Given the description of an element on the screen output the (x, y) to click on. 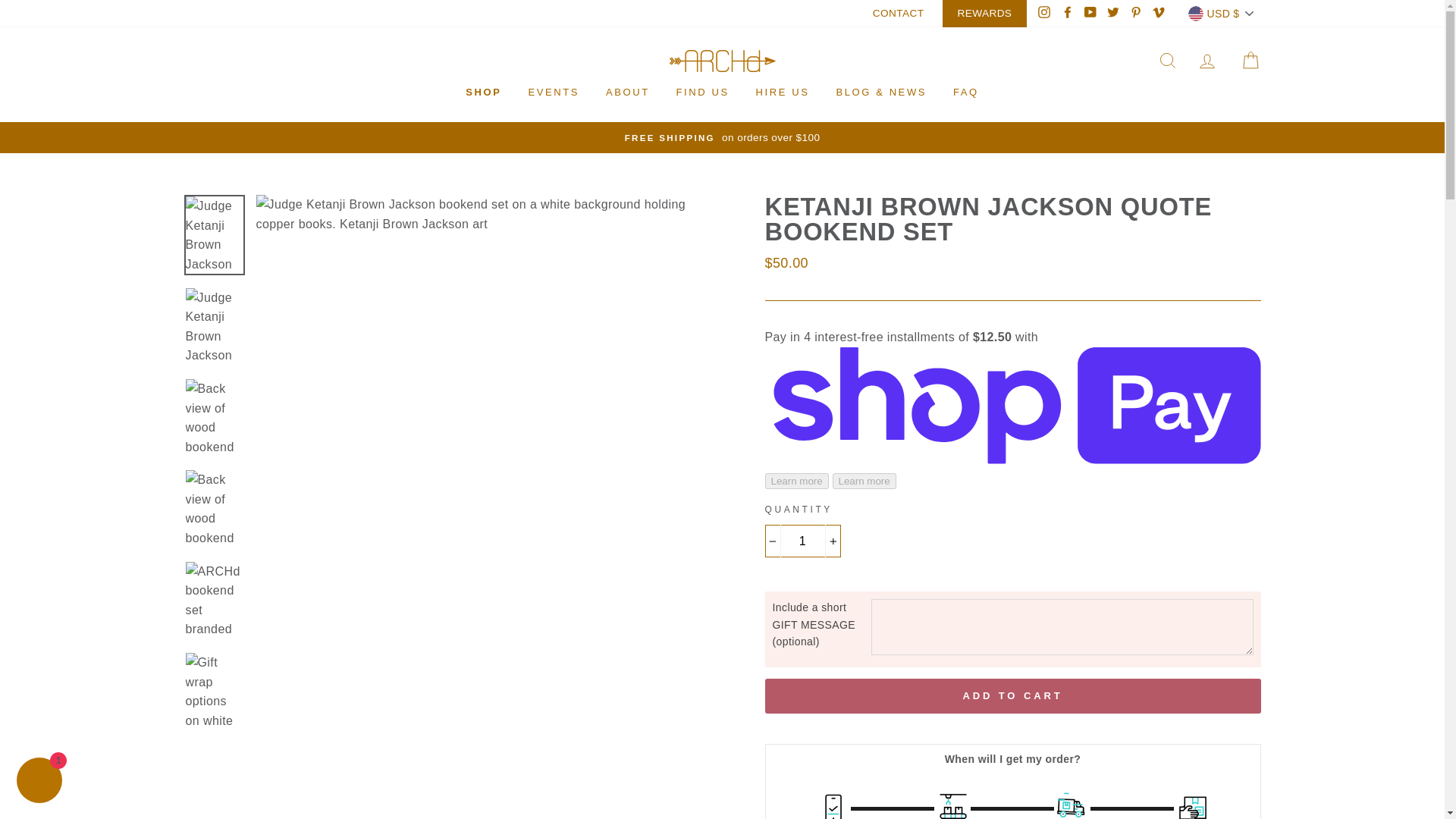
1 (802, 540)
